Given the description of an element on the screen output the (x, y) to click on. 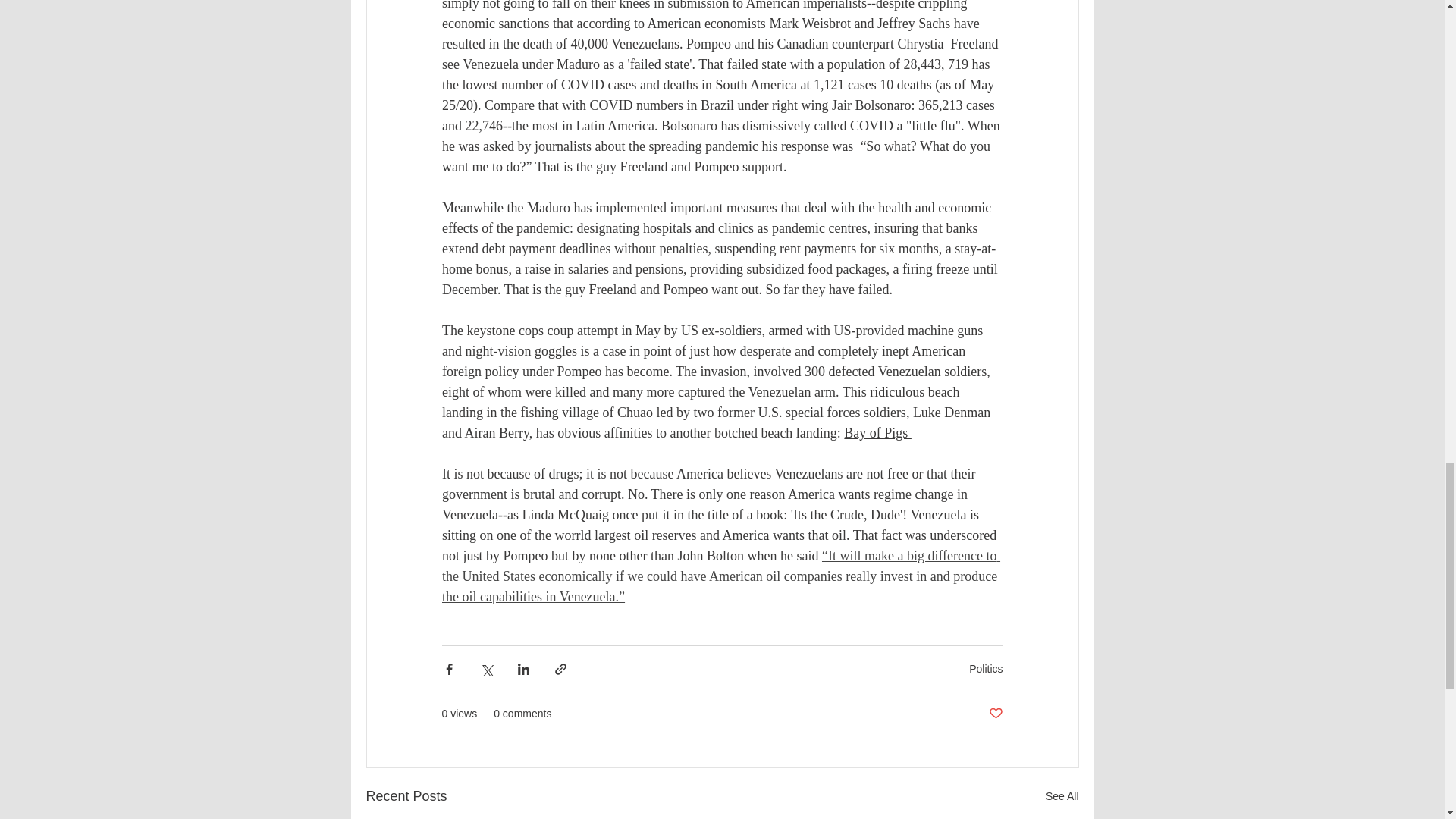
Politics (986, 668)
Bay of Pigs  (877, 432)
Post not marked as liked (995, 713)
See All (1061, 796)
